Given the description of an element on the screen output the (x, y) to click on. 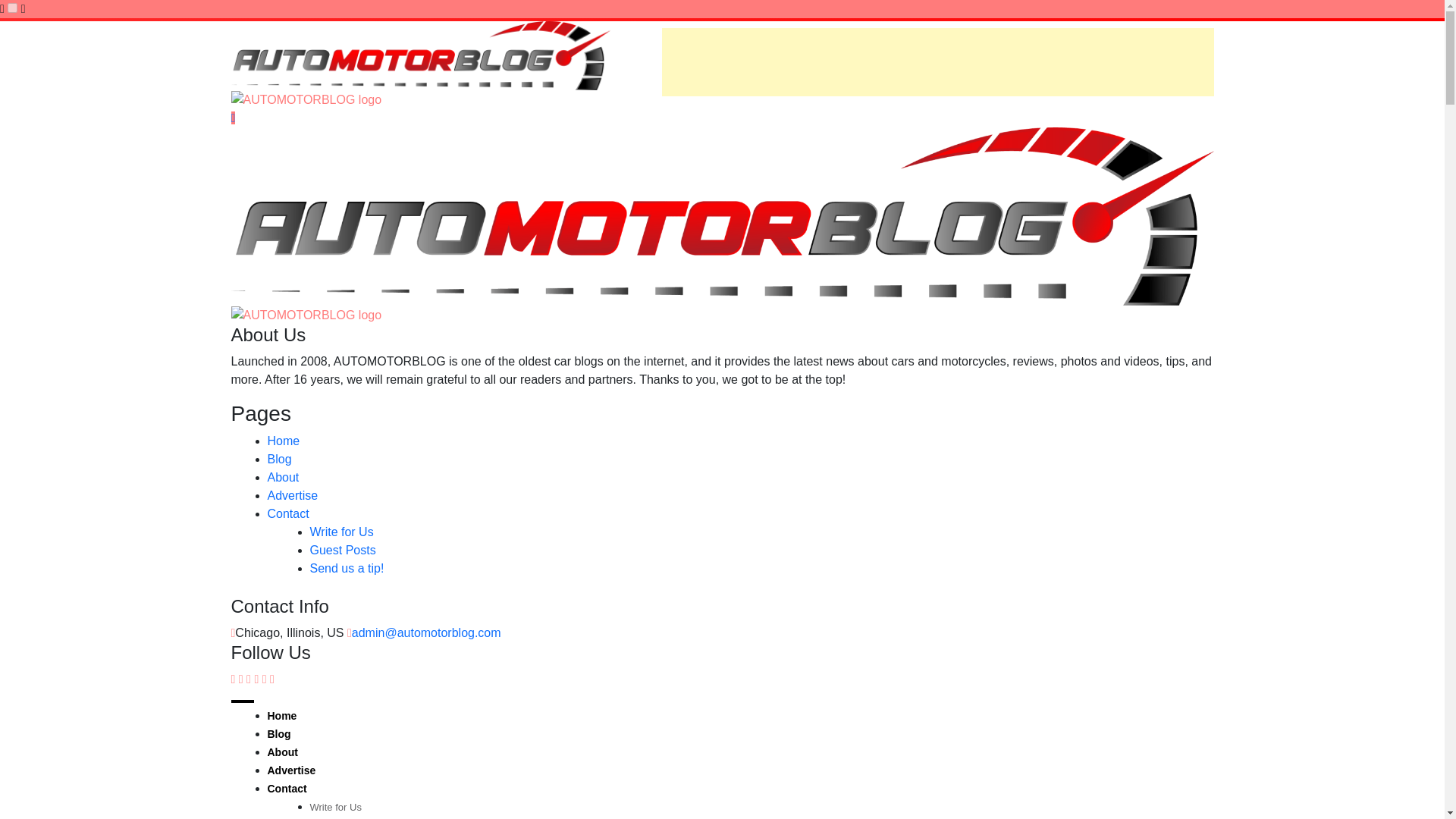
Write for Us (340, 531)
Advertise (291, 495)
Blog (278, 459)
Home (281, 715)
Guest Posts (341, 549)
Write for Us (334, 807)
Contact (287, 513)
Home (282, 440)
Contact (285, 788)
About (281, 752)
